Given the description of an element on the screen output the (x, y) to click on. 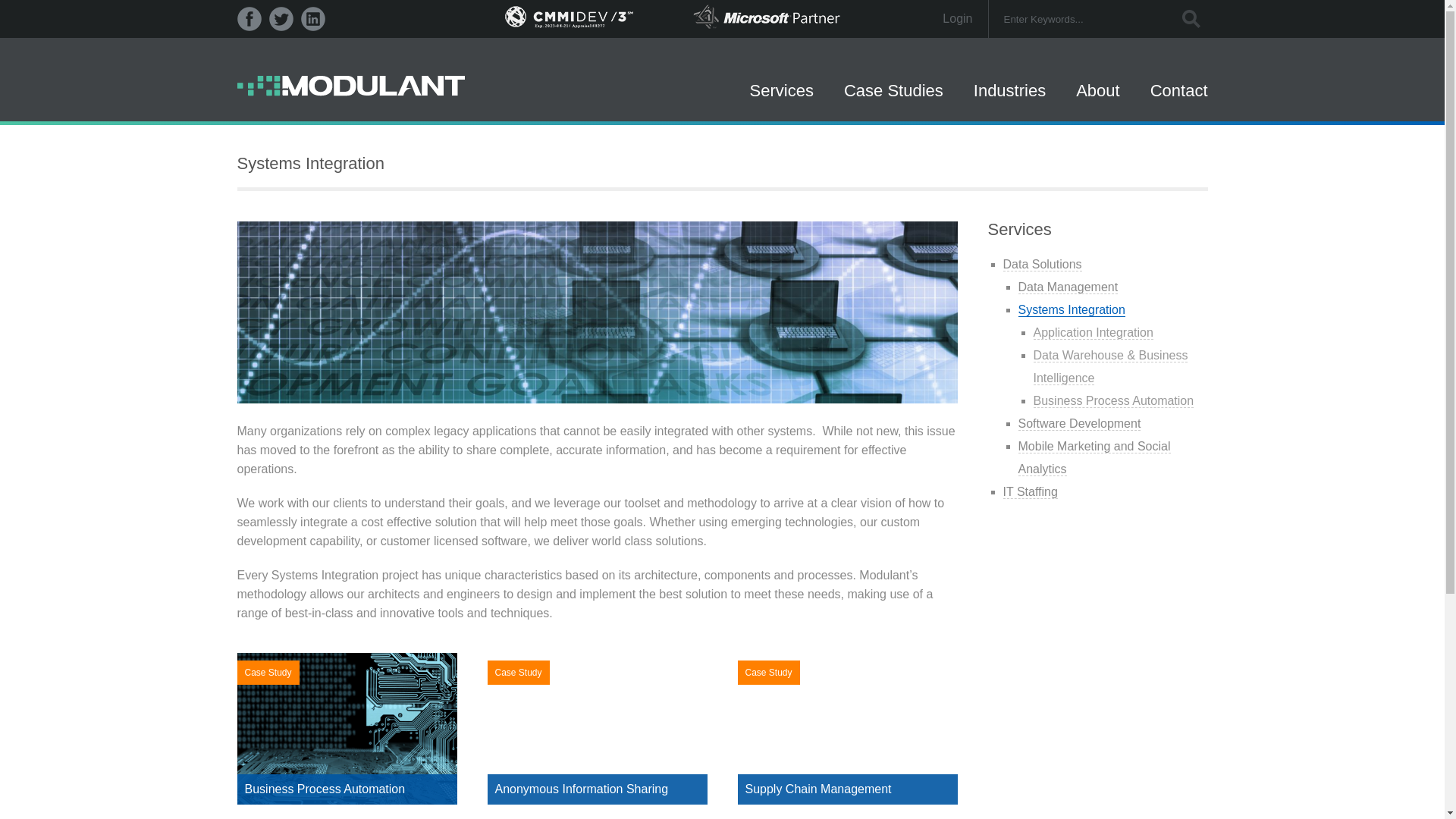
Services (781, 98)
Application Integration (1092, 332)
Industries (1009, 98)
Software Development (1078, 423)
Mobile Marketing and Social Analytics (1093, 457)
Systems Integration (1070, 309)
Business Process Automation (1112, 400)
Data Solutions (1042, 264)
Case Studies (893, 98)
About (1097, 98)
Login (926, 18)
Data Management (1067, 287)
IT Staffing (1030, 491)
Contact (1179, 98)
